Given the description of an element on the screen output the (x, y) to click on. 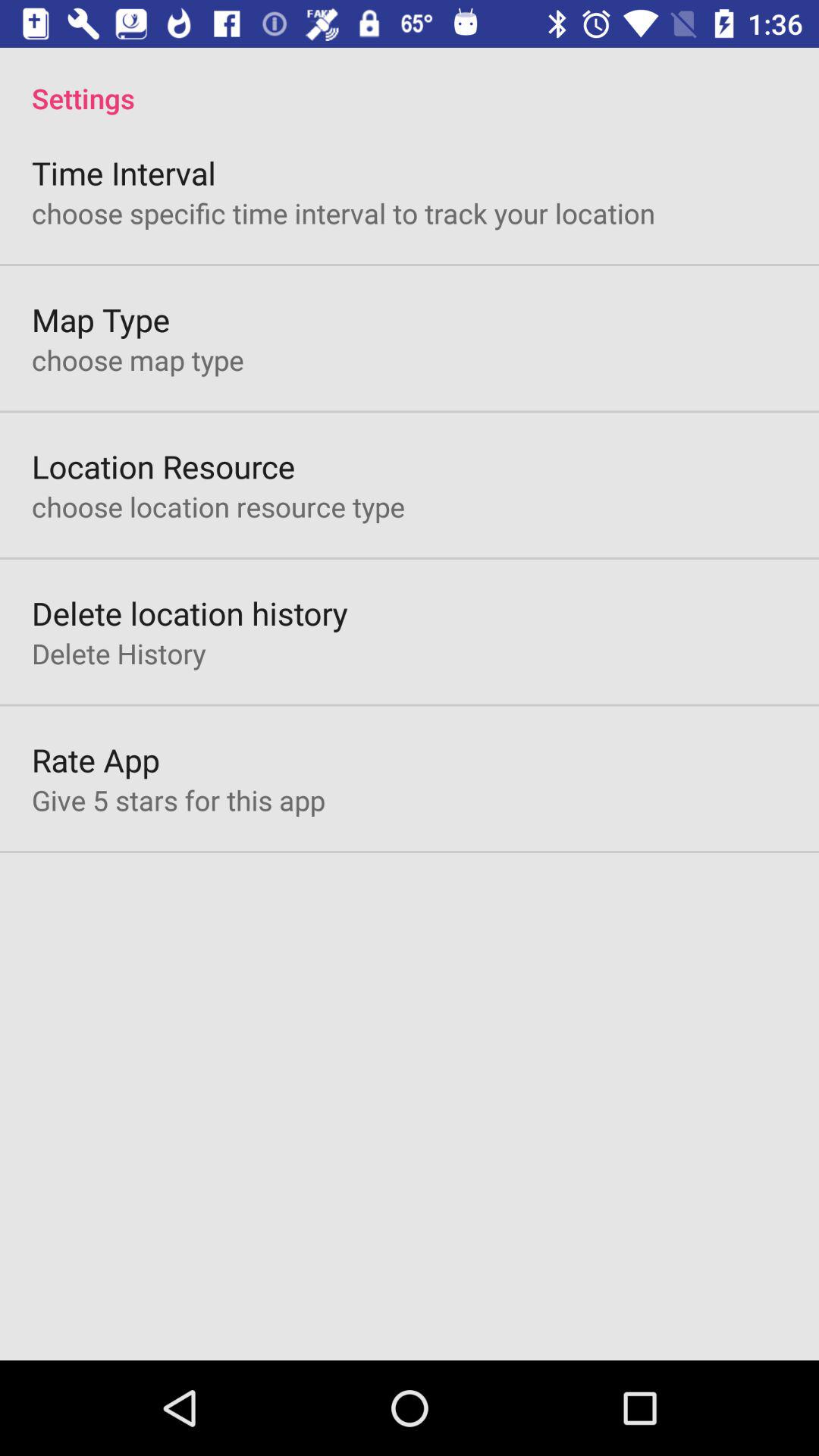
swipe until choose specific time item (343, 213)
